Given the description of an element on the screen output the (x, y) to click on. 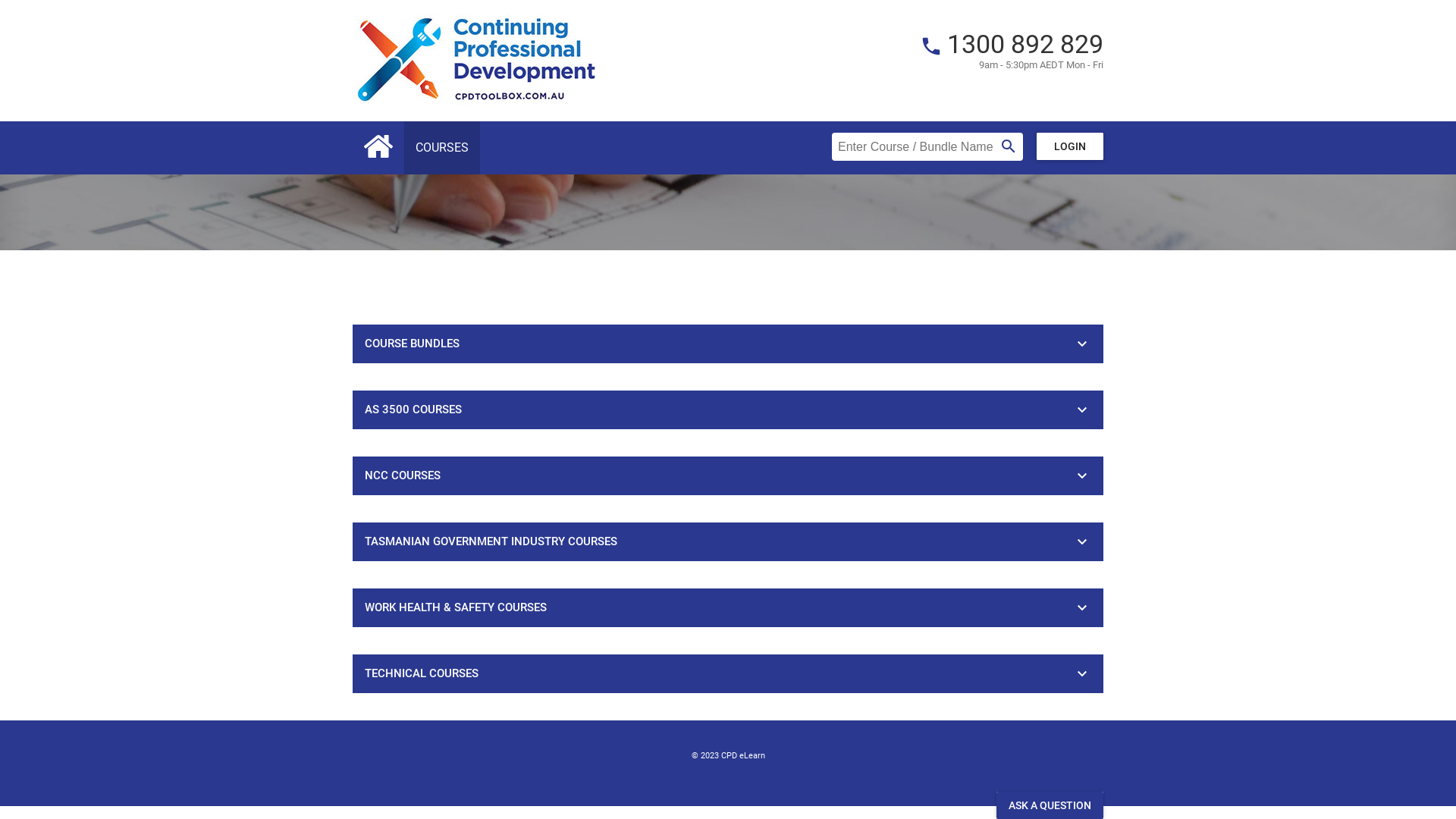
COURSES Element type: text (442, 147)
LOGIN Element type: text (1069, 146)
